Given the description of an element on the screen output the (x, y) to click on. 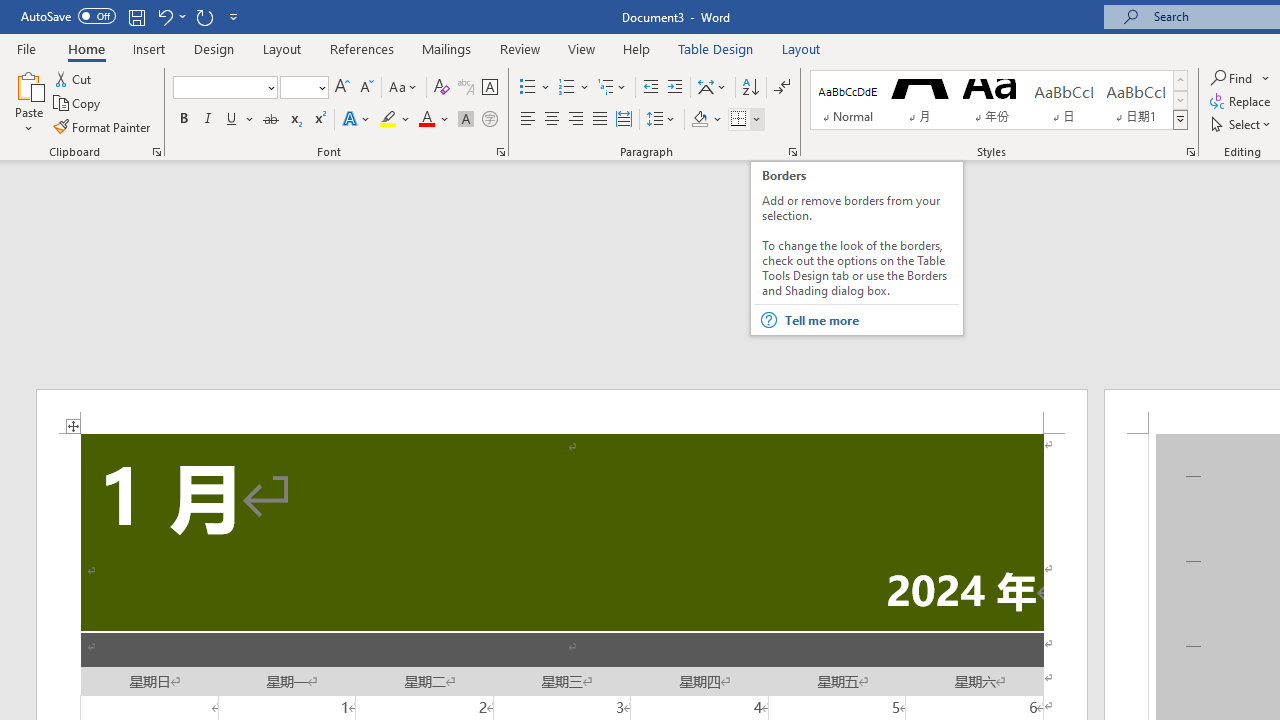
Row up (1179, 79)
Align Right (575, 119)
Strikethrough (270, 119)
Distributed (623, 119)
Grow Font (342, 87)
Shrink Font (365, 87)
